Given the description of an element on the screen output the (x, y) to click on. 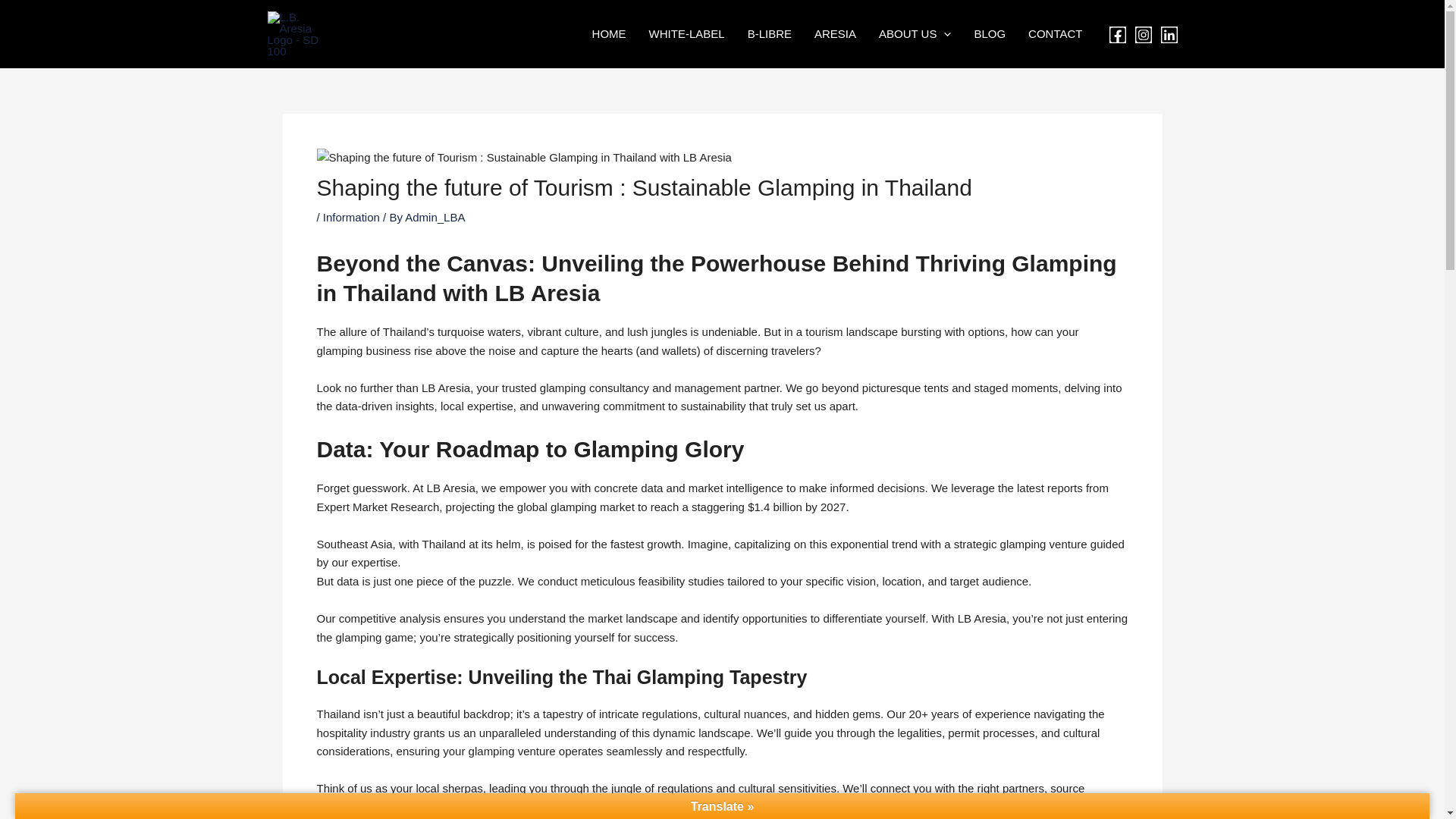
ARESIA (835, 34)
Information (351, 715)
WHITE-LABEL (686, 34)
BLOG (989, 34)
B-LIBRE (769, 34)
CONTACT (1054, 34)
ABOUT US (914, 34)
HOME (608, 34)
